Given the description of an element on the screen output the (x, y) to click on. 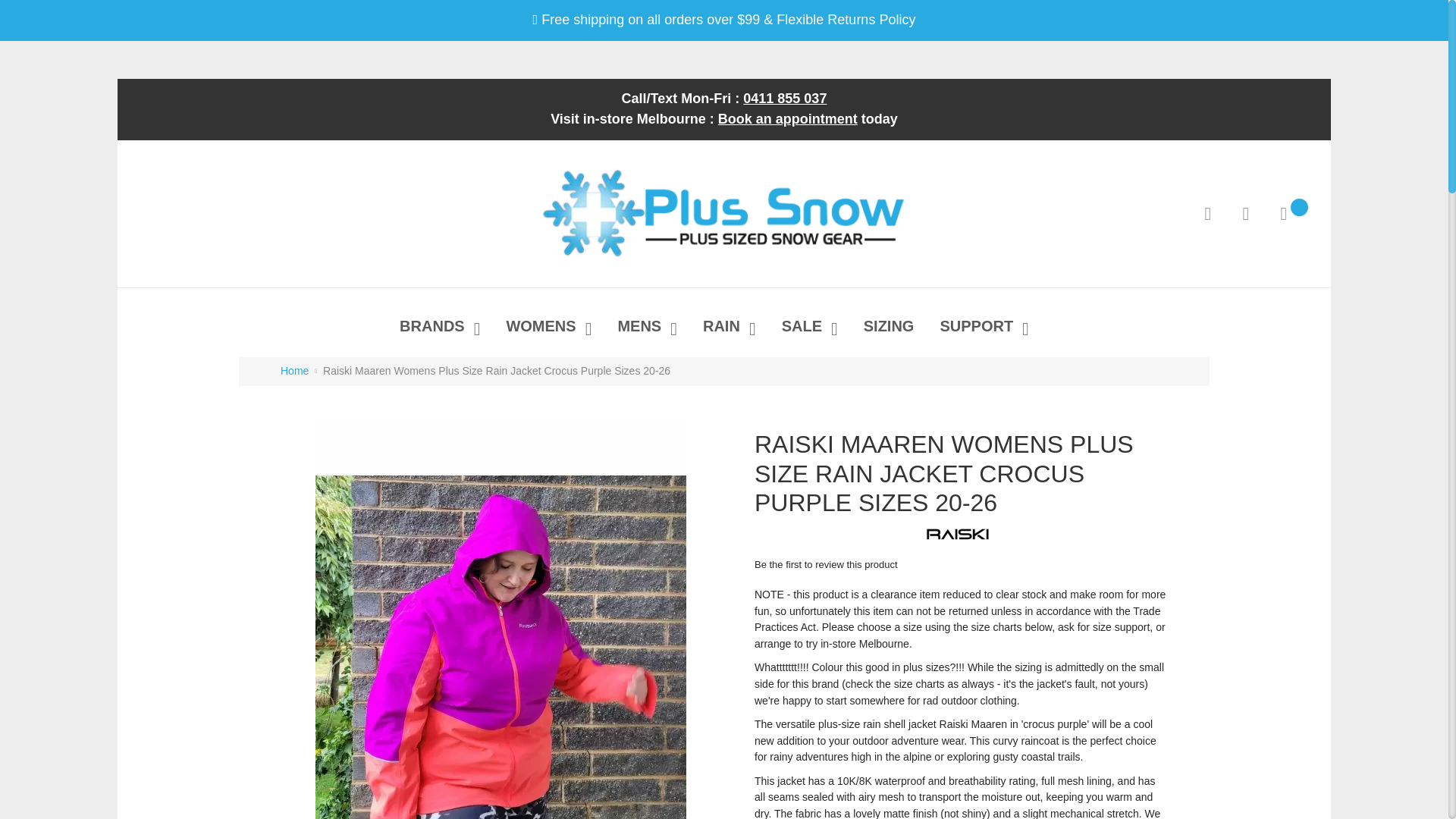
Go to Home Page (294, 370)
WOMENS (546, 327)
Raiski (957, 533)
BRANDS (438, 327)
Plus Snow (724, 213)
Plus Snow (723, 213)
0411 855 037 (784, 98)
Book an appointment (787, 118)
